Given the description of an element on the screen output the (x, y) to click on. 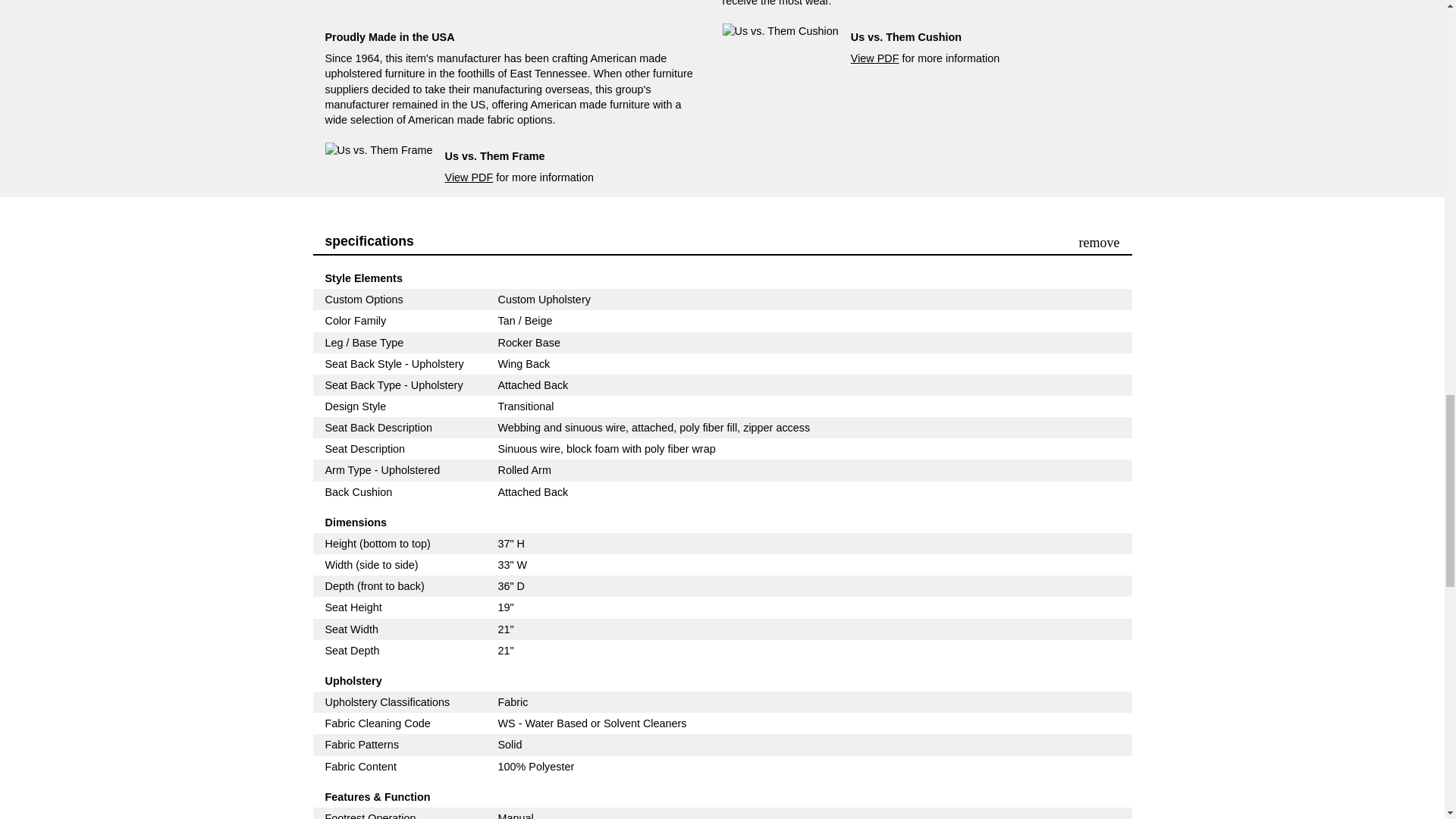
Click to view PDF (469, 177)
Click to view PDF (780, 30)
Click to view PDF (378, 150)
Click to view PDF (874, 58)
